Given the description of an element on the screen output the (x, y) to click on. 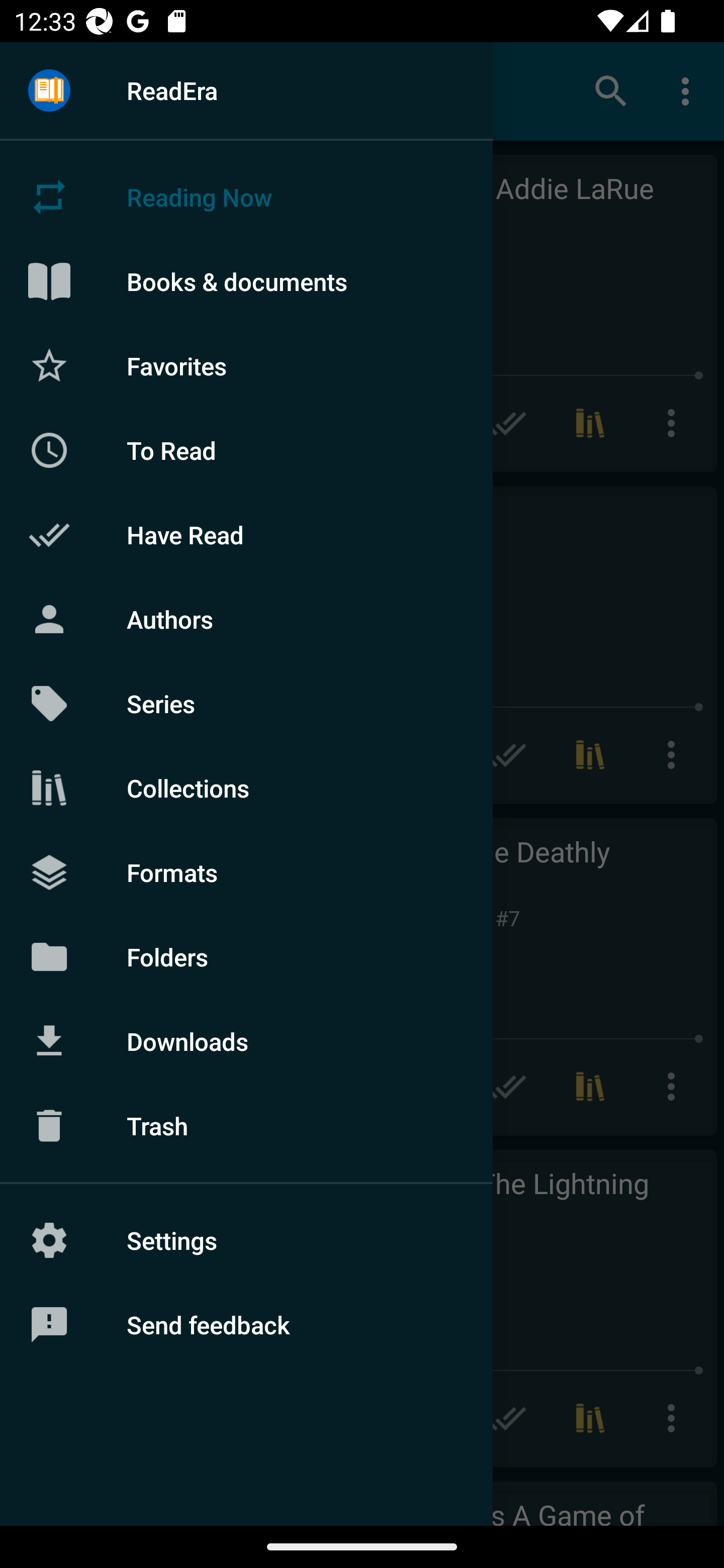
Menu (49, 91)
ReadEra (246, 89)
Search books & documents (611, 90)
More options (688, 90)
Reading Now (246, 197)
Books & documents (246, 281)
Favorites (246, 365)
To Read (246, 449)
Have Read (246, 534)
Authors (246, 619)
Series (246, 703)
Collections (246, 787)
Formats (246, 871)
Folders (246, 956)
Downloads (246, 1040)
Trash (246, 1125)
Settings (246, 1239)
Send feedback (246, 1324)
